Given the description of an element on the screen output the (x, y) to click on. 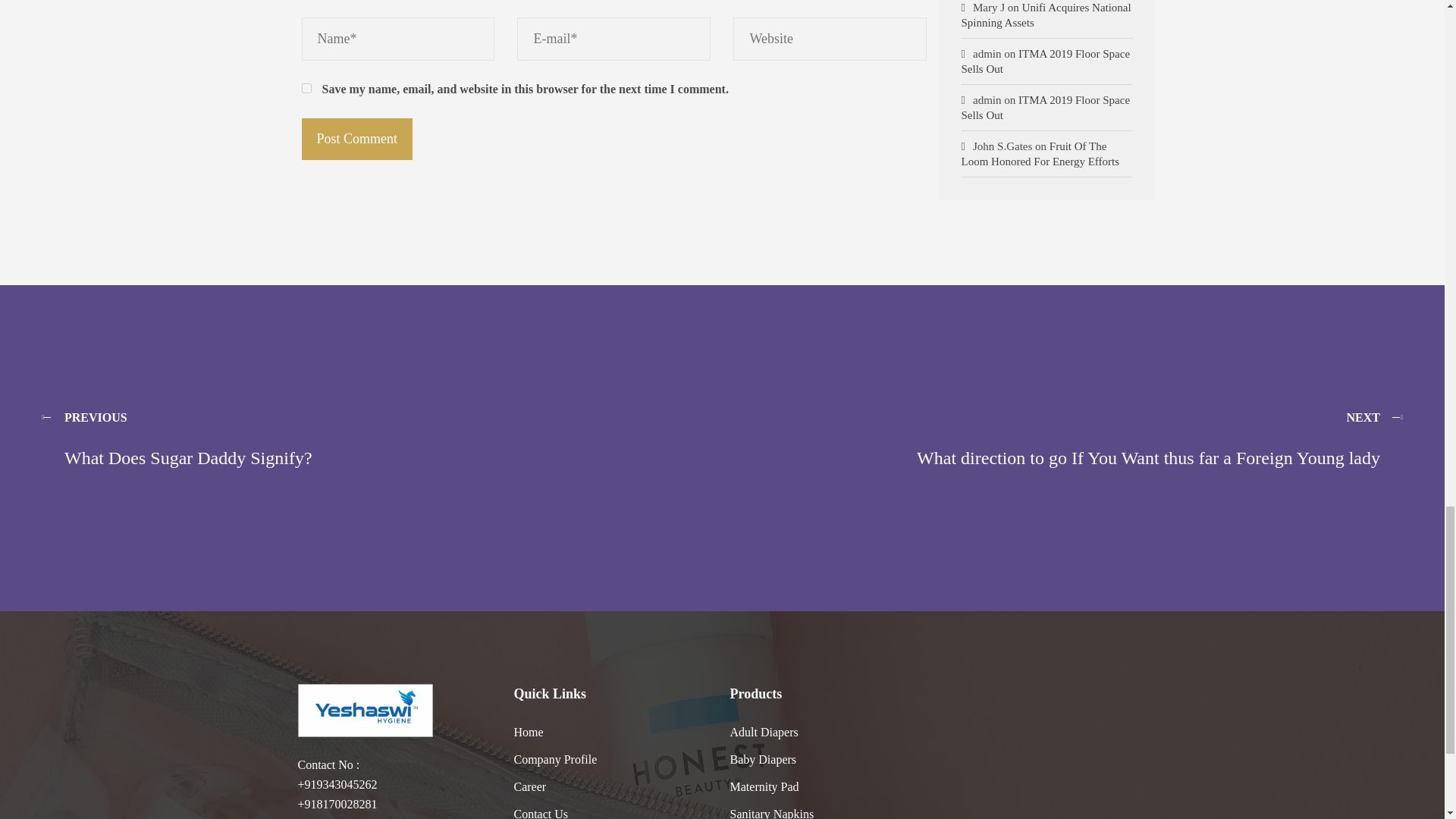
Jalahalli Village, Jalahalli, Bengaluru, Karnataka 560013 (1046, 751)
Post Comment (357, 138)
yes (306, 88)
